Given the description of an element on the screen output the (x, y) to click on. 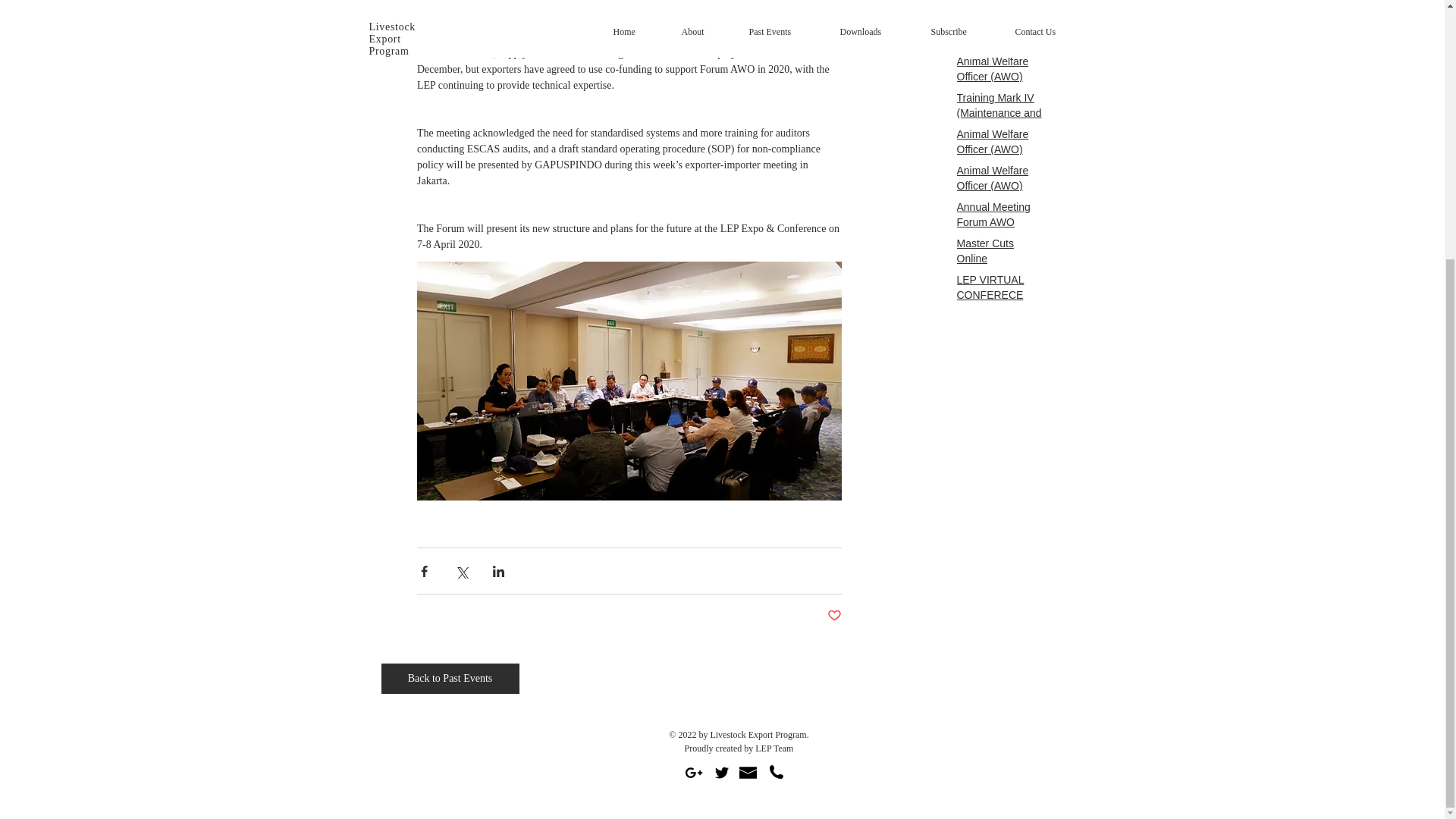
LEP VIRTUAL CONFERECE 2020 (1001, 297)
Master Cuts Online (1001, 253)
LEP EXPO 2022 (1001, 1)
Post not marked as liked (834, 616)
Annual Meeting Forum AWO Indonesia (1001, 224)
Back to Past Events (449, 678)
